Given the description of an element on the screen output the (x, y) to click on. 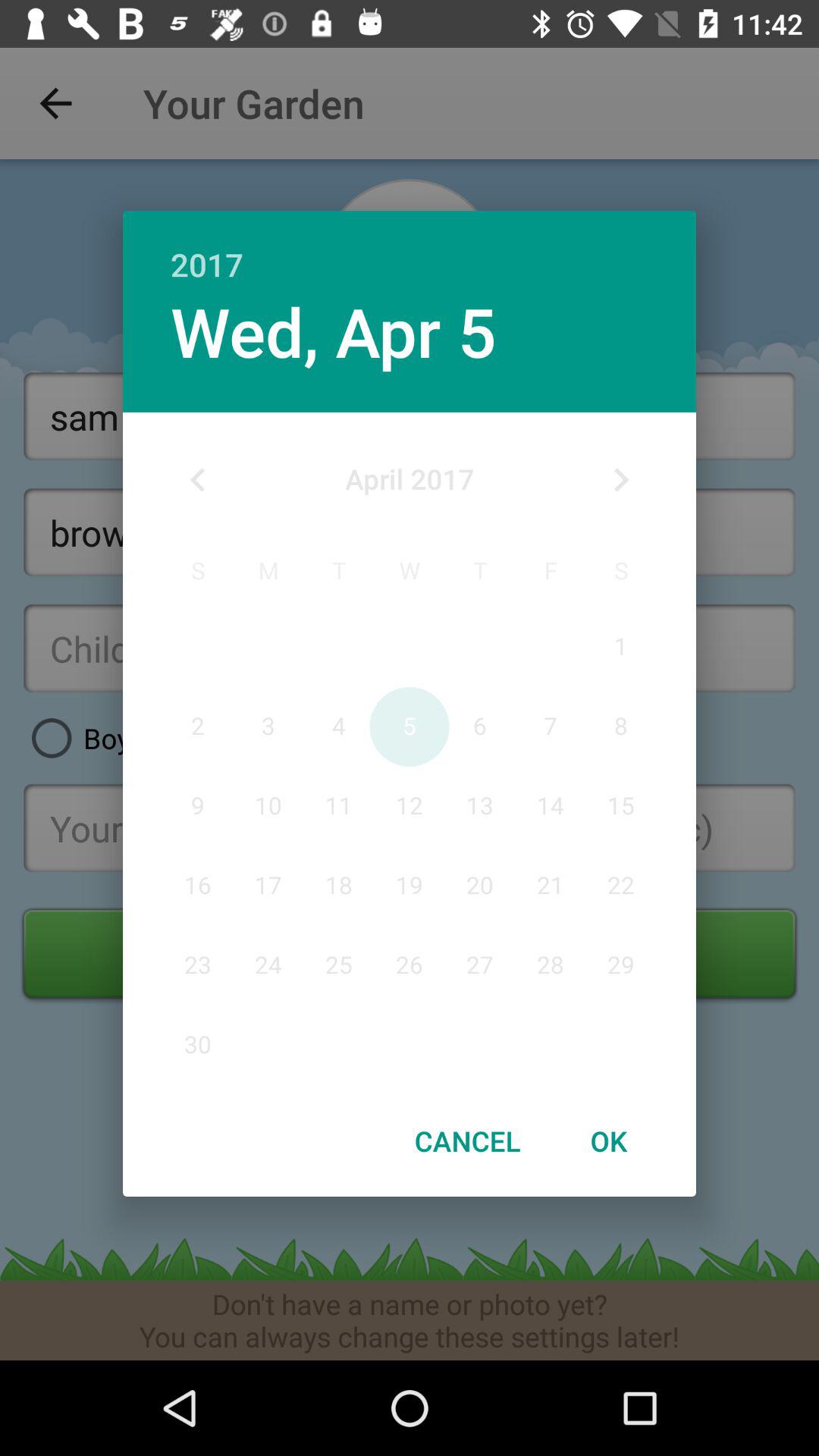
open icon below wed, apr 5 (197, 479)
